Given the description of an element on the screen output the (x, y) to click on. 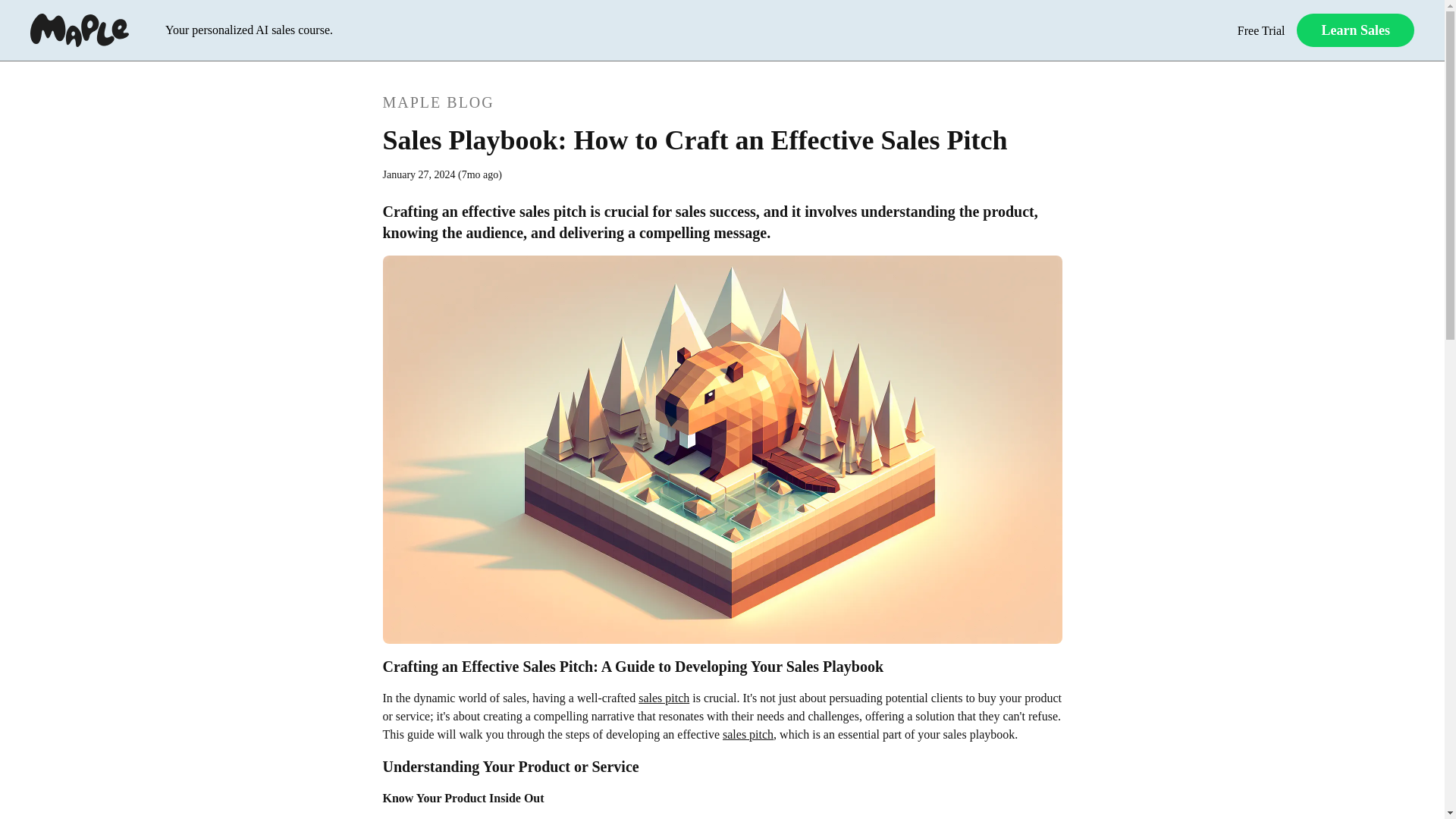
MAPLE BLOG (721, 102)
sales pitch (663, 697)
sales pitch (747, 734)
Learn Sales (1355, 30)
Learn Sales (1355, 29)
